Given the description of an element on the screen output the (x, y) to click on. 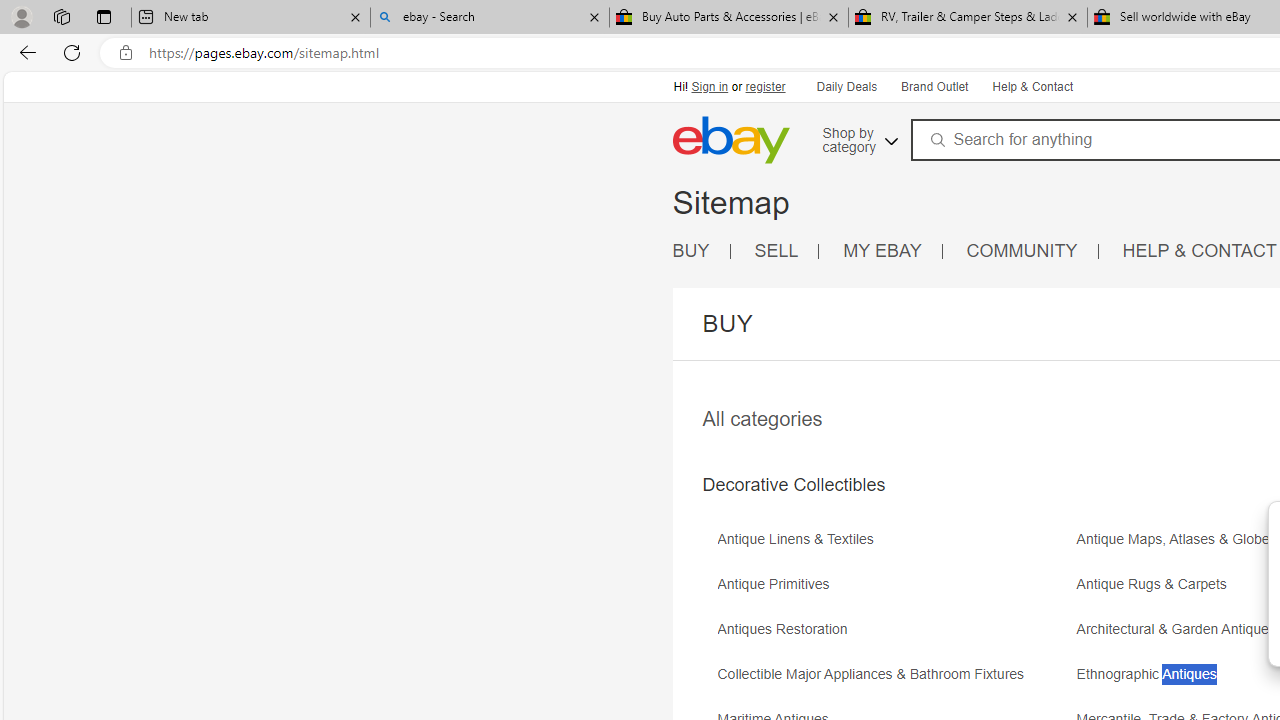
COMMUNITY (1032, 251)
Brand Outlet (934, 88)
BUY (691, 250)
Help & Contact (1032, 88)
eBay Logo (797, 169)
HELP & CONTACT (1199, 250)
COMMUNITY (1021, 250)
Antique Rugs & Carpets (1156, 583)
Brand Outlet (933, 86)
SELL (775, 250)
Ethnographic Antiques (1151, 673)
Decorative Collectibles (793, 485)
